Given the description of an element on the screen output the (x, y) to click on. 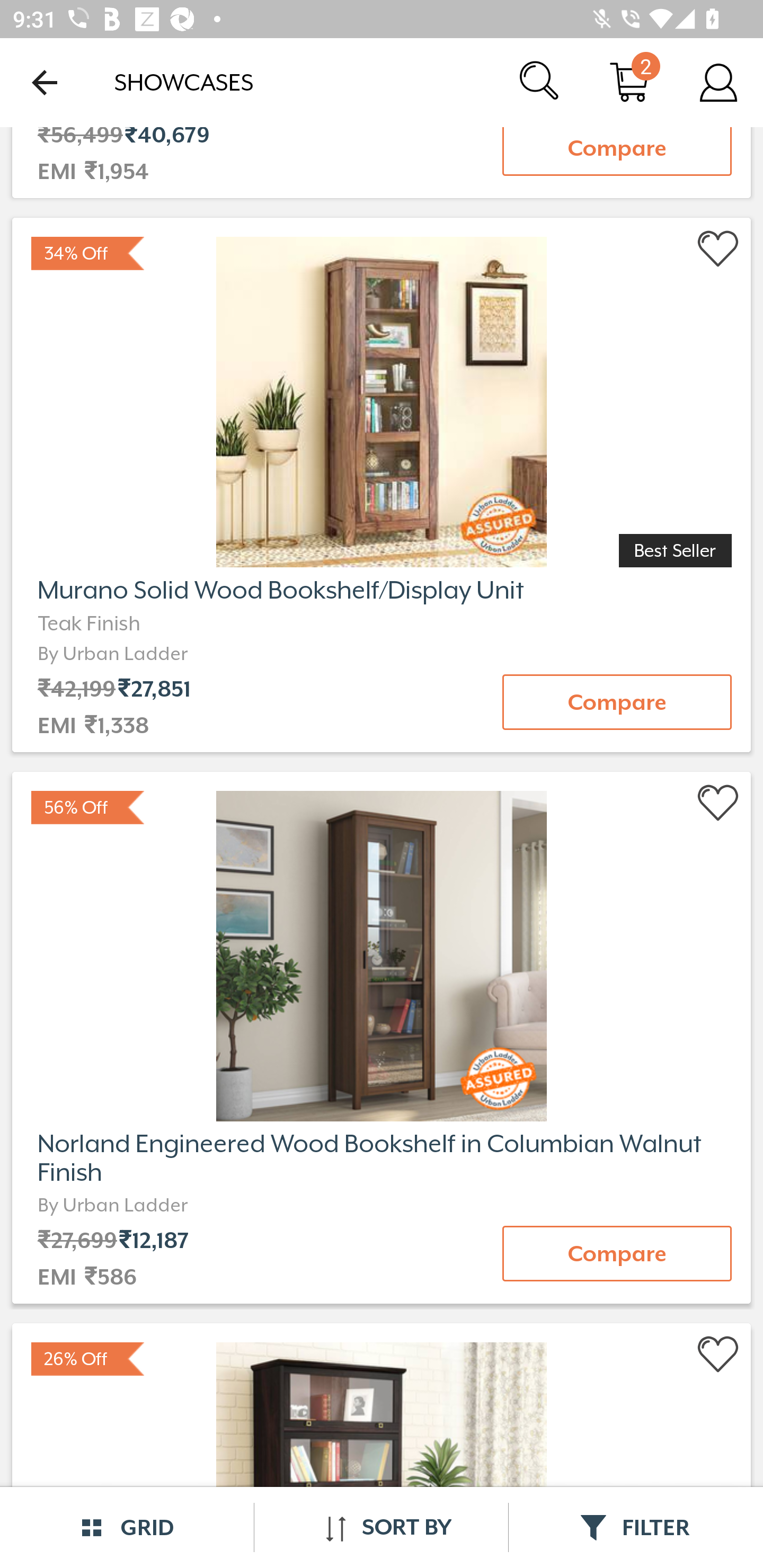
Navigate up (44, 82)
Search (540, 81)
Cart (629, 81)
Account Details (718, 81)
₹56,499 ₹40,679 EMI ₹1,954 Compare (381, 165)
Compare (616, 151)
Compare (616, 702)
 (718, 803)
Compare (616, 1253)
 (718, 1354)
 GRID (127, 1527)
SORT BY (381, 1527)
 FILTER (635, 1527)
